Given the description of an element on the screen output the (x, y) to click on. 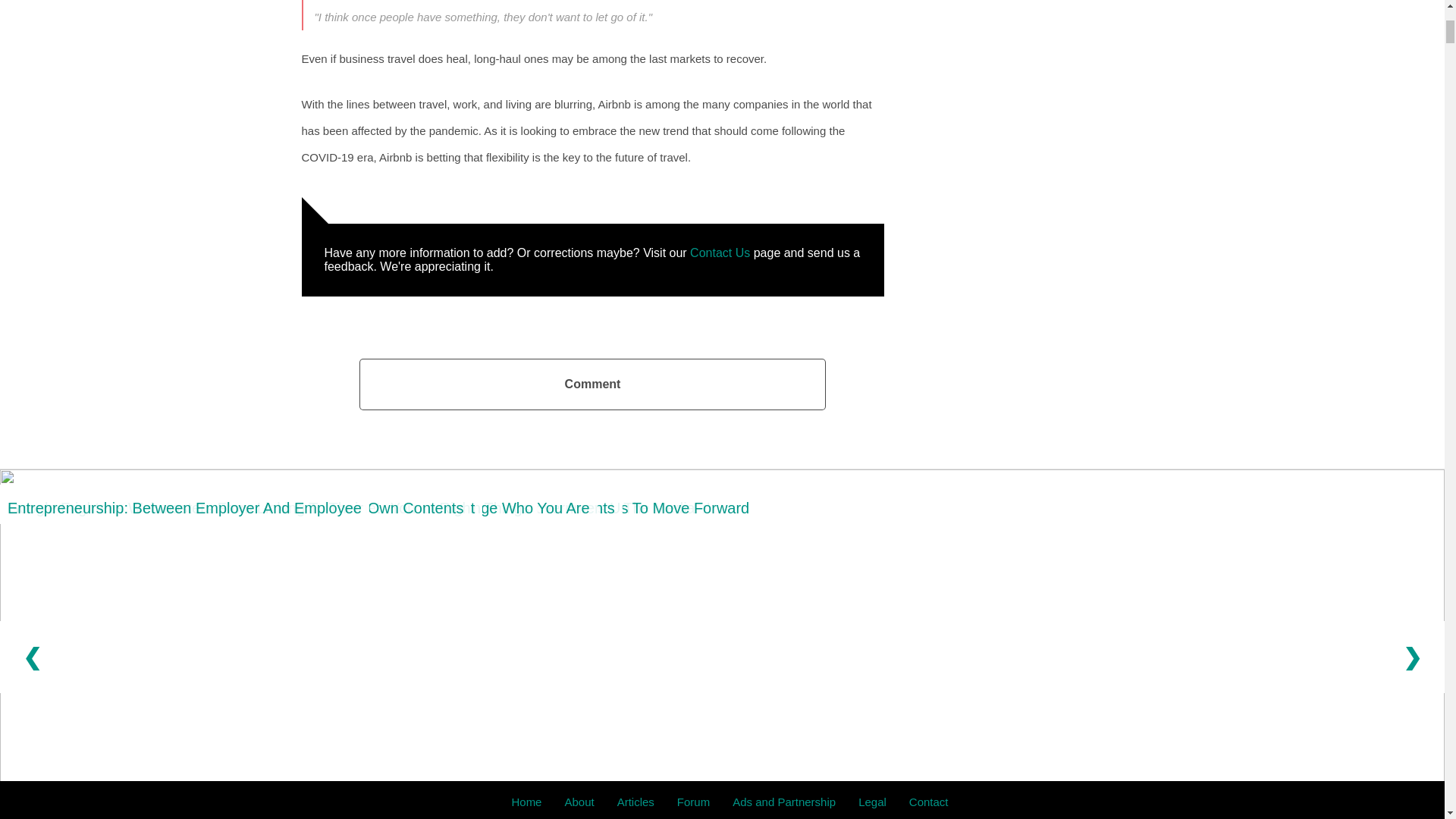
Contact Us (719, 252)
Comment (592, 384)
